Given the description of an element on the screen output the (x, y) to click on. 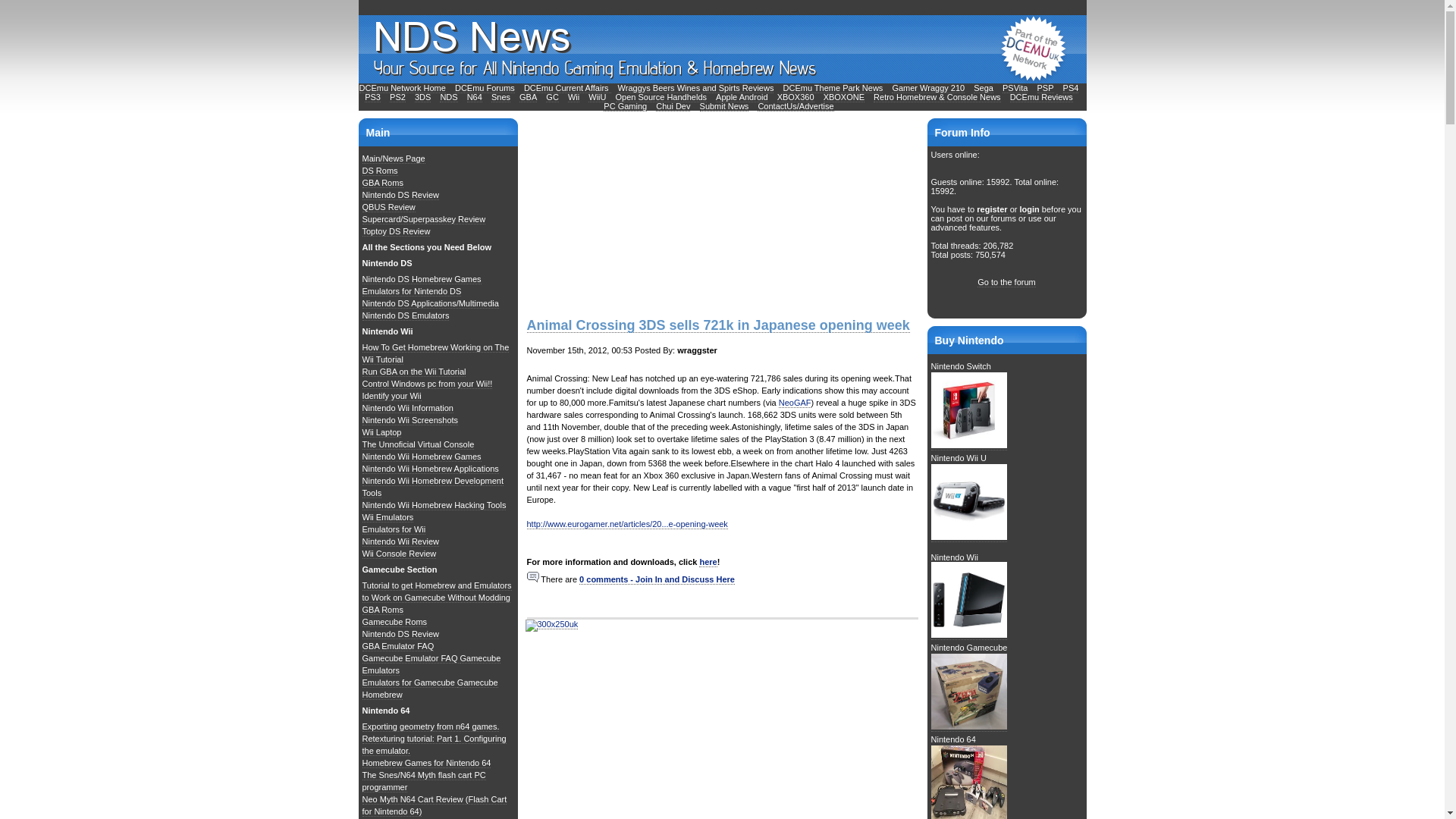
Wraggys Beers Wines and Spirts Reviews (695, 88)
NDS (448, 97)
Snes (501, 97)
PS4 (1070, 88)
DS Roms (379, 171)
PS2 (398, 97)
Open Source Handhelds (660, 97)
3DS (422, 97)
Wii (573, 97)
Emulators for Nintendo DS (411, 291)
Sega (983, 88)
Chui Dev (673, 106)
XBOX360 (795, 97)
GC (552, 97)
QBUS Review (388, 207)
